Given the description of an element on the screen output the (x, y) to click on. 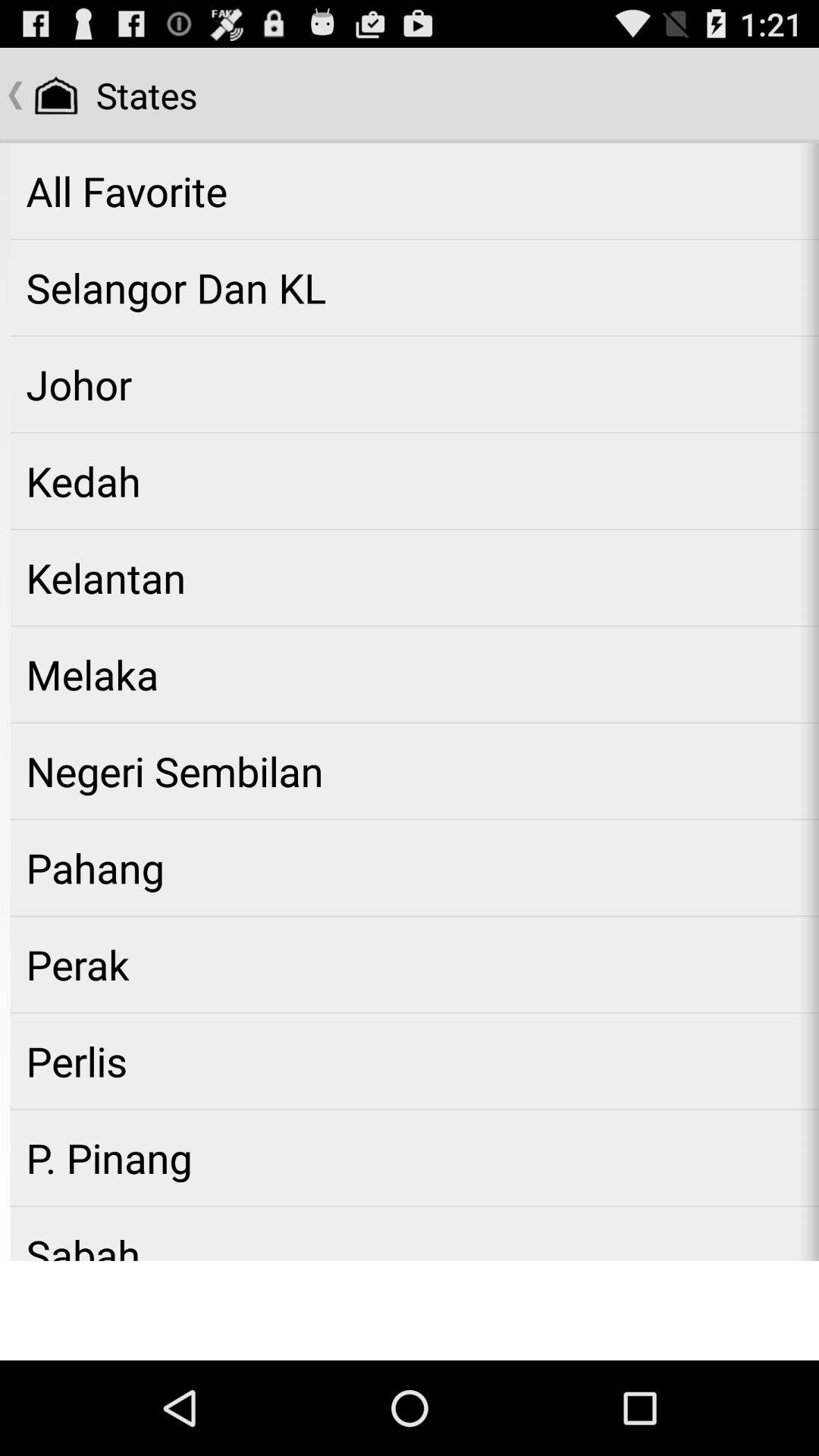
turn off item above perlis icon (414, 964)
